Given the description of an element on the screen output the (x, y) to click on. 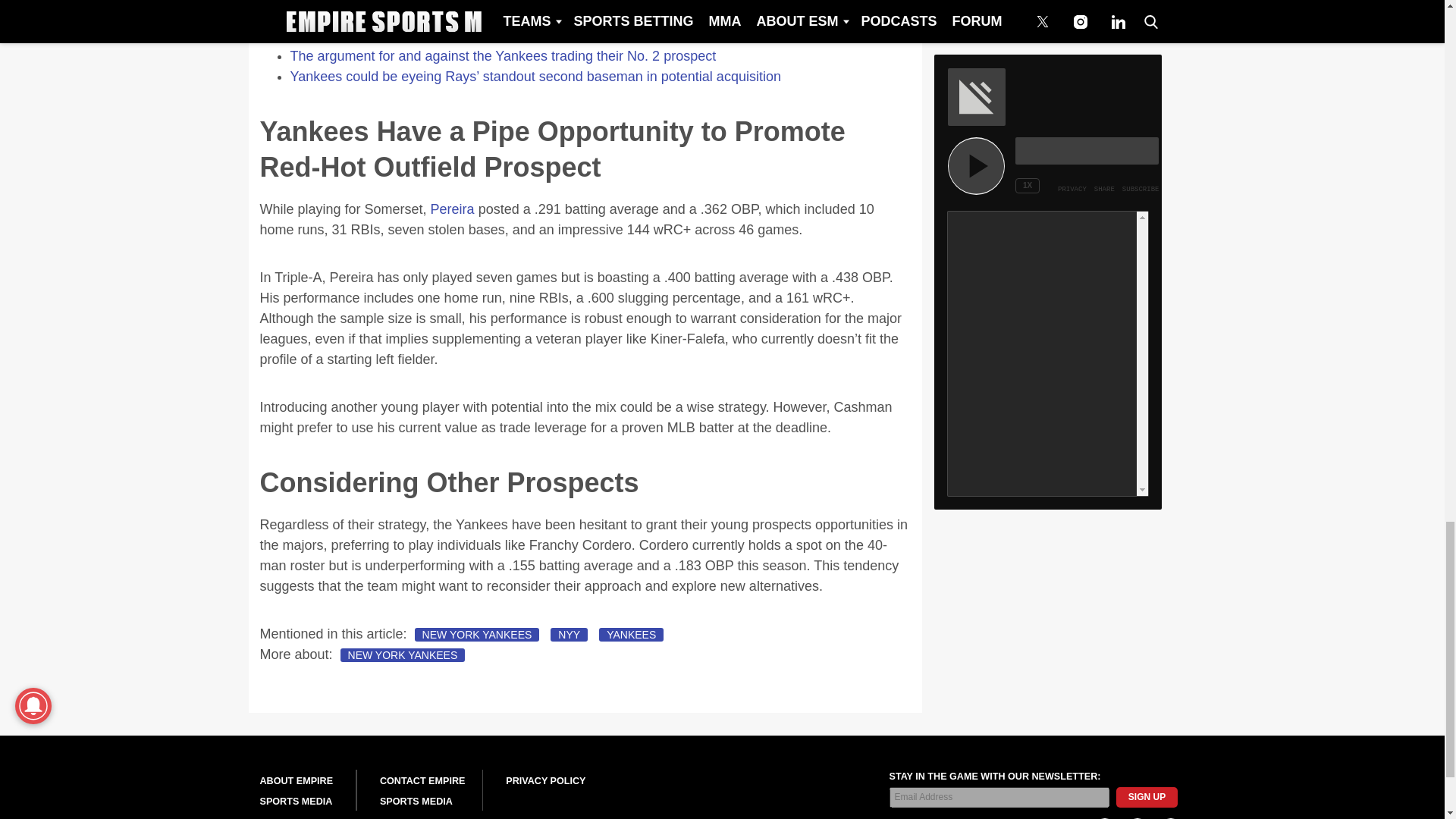
Pereira (452, 209)
NYY (569, 634)
YANKEES (630, 634)
NEW YORK YANKEES (402, 654)
NEW YORK YANKEES (477, 634)
